Given the description of an element on the screen output the (x, y) to click on. 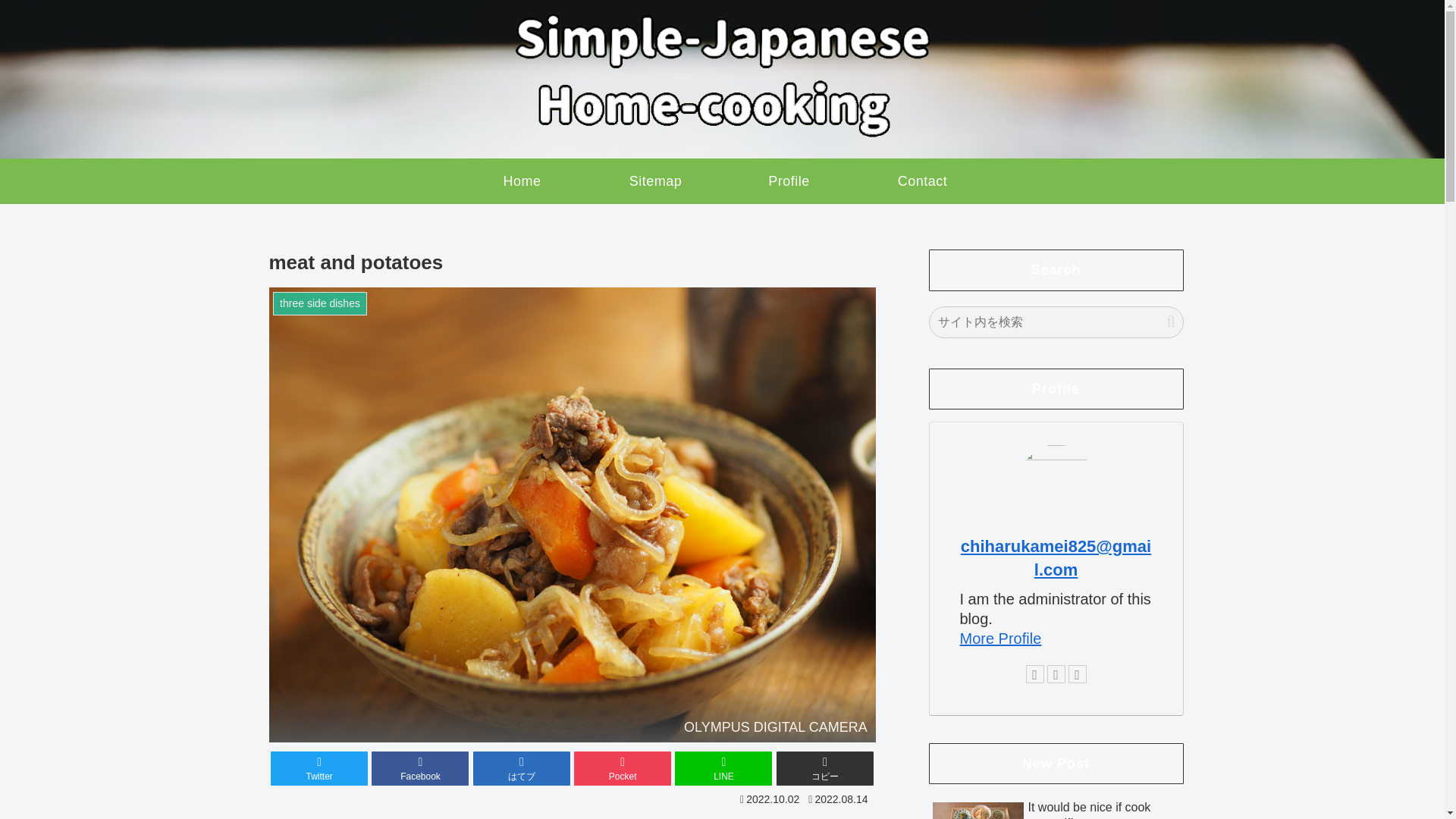
Sitemap (655, 180)
More Profile (1000, 638)
meat and potatoes (521, 768)
Home (521, 180)
Pocket (622, 768)
It would be nice if cook yourself! (1055, 807)
Profile (789, 180)
Facebook (419, 768)
Contact (922, 180)
Twitter (319, 768)
LINE (723, 768)
